Given the description of an element on the screen output the (x, y) to click on. 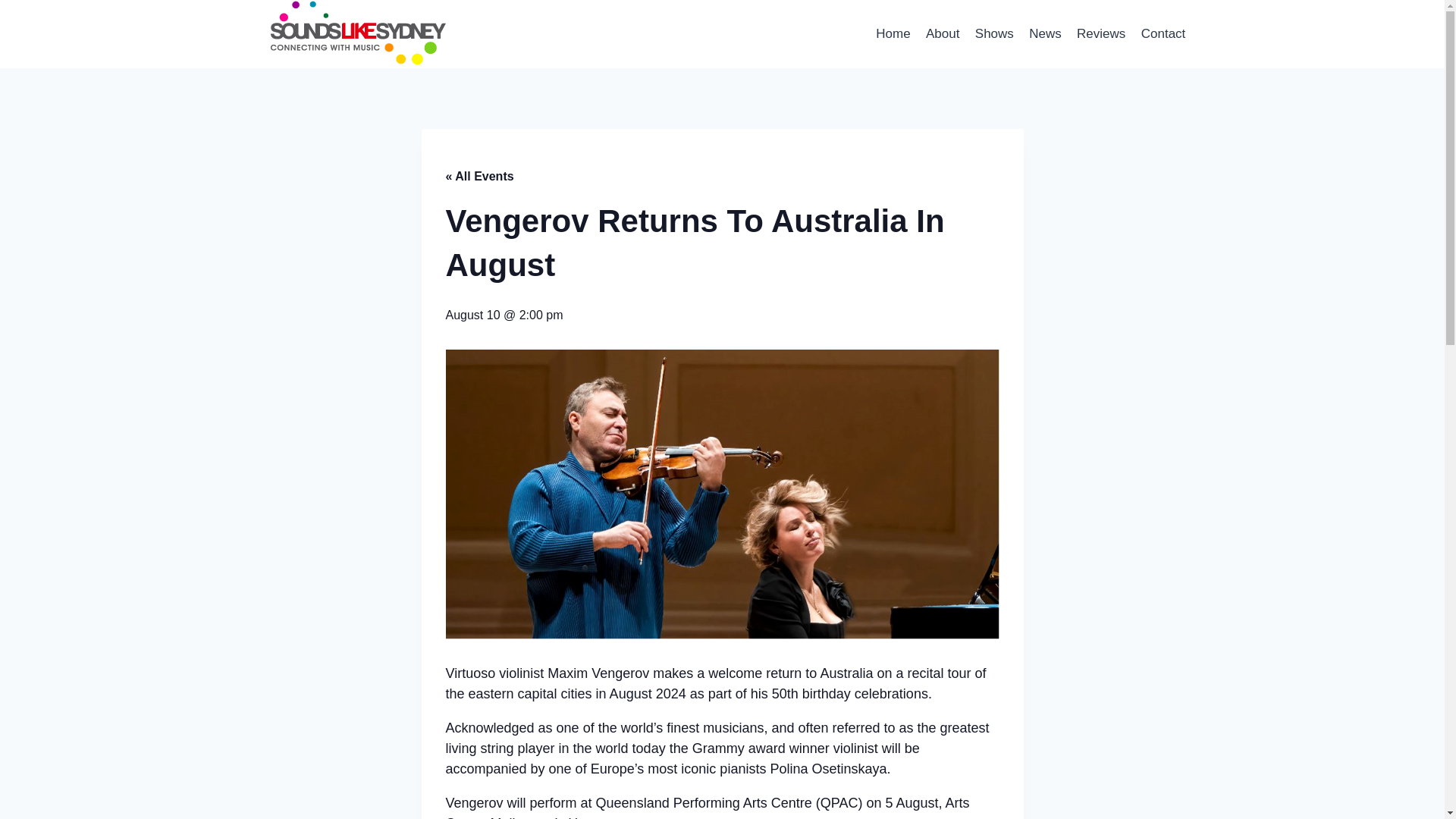
Shows (995, 33)
News (1045, 33)
About (943, 33)
Contact (1163, 33)
Reviews (1101, 33)
Home (892, 33)
